Given the description of an element on the screen output the (x, y) to click on. 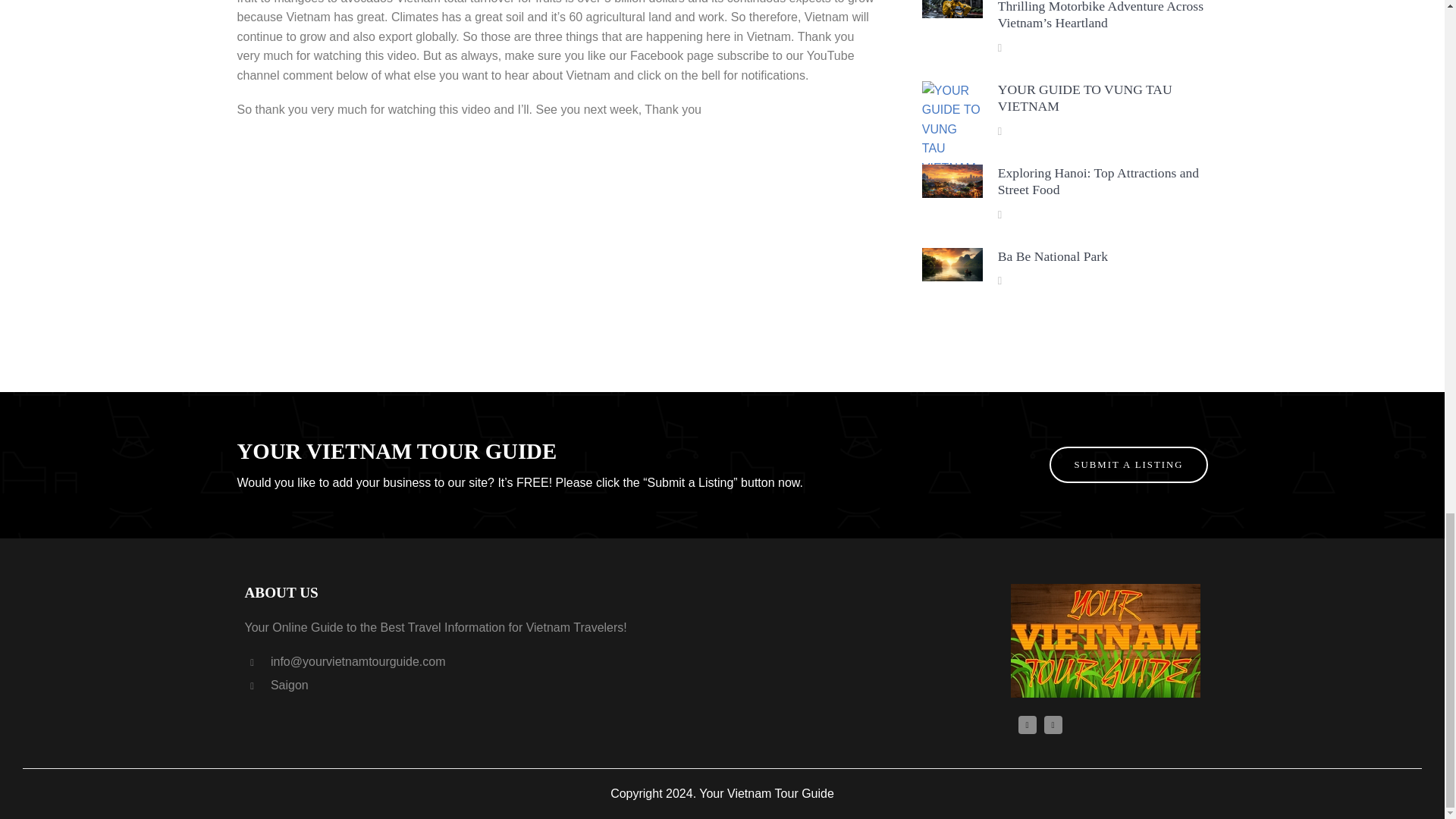
YOUR GUIDE TO VUNG TAU VIETNAM (1084, 97)
Ba Be National Park (1052, 255)
Exploring Hanoi: Top Attractions and Street Food (1097, 181)
